Given the description of an element on the screen output the (x, y) to click on. 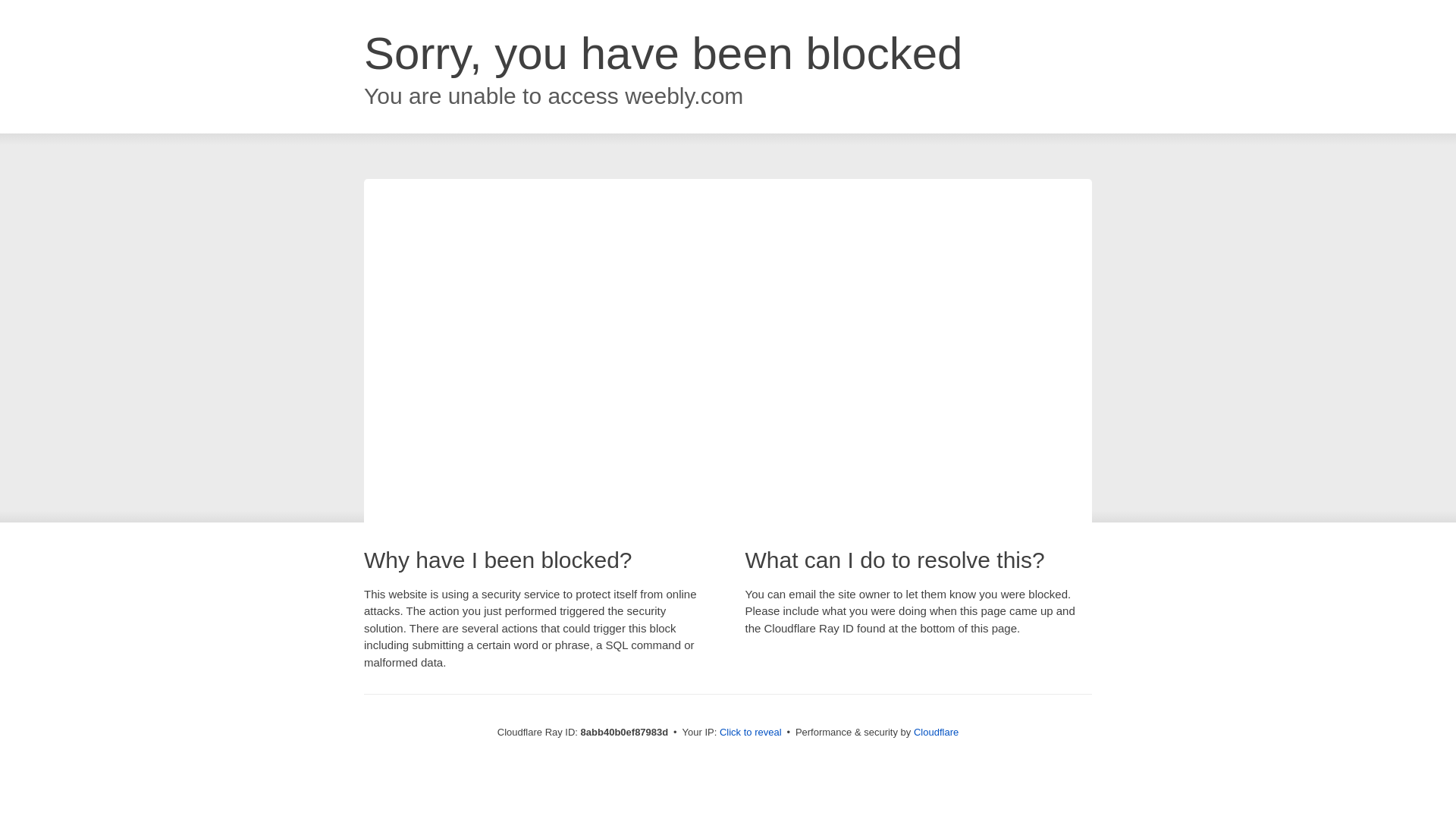
Cloudflare (936, 731)
Click to reveal (750, 732)
